Given the description of an element on the screen output the (x, y) to click on. 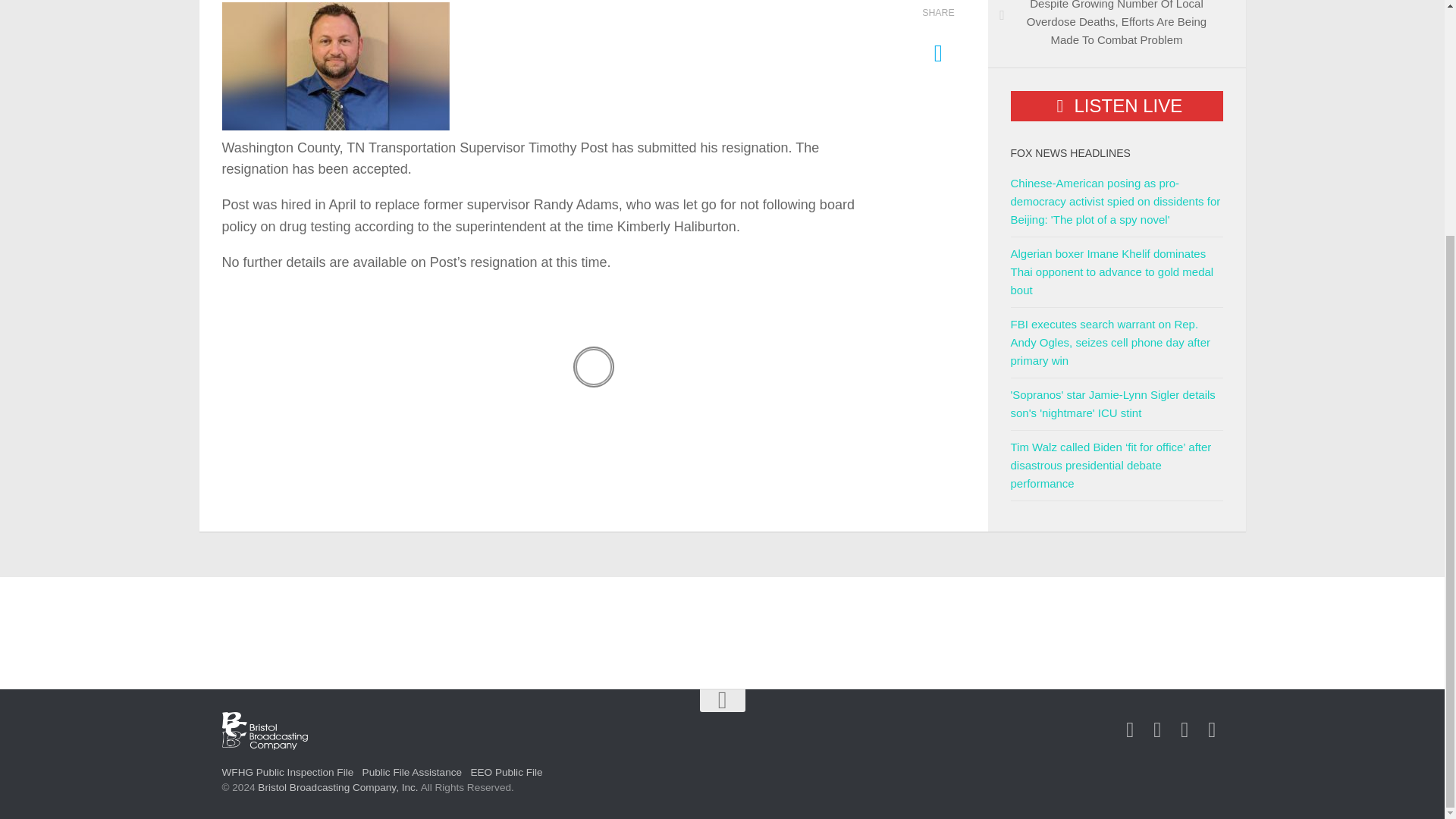
Contact Us (1184, 730)
Follow us on Facebook (1129, 730)
Rss Feed (1212, 730)
Follow us on Twitter (1157, 730)
